Given the description of an element on the screen output the (x, y) to click on. 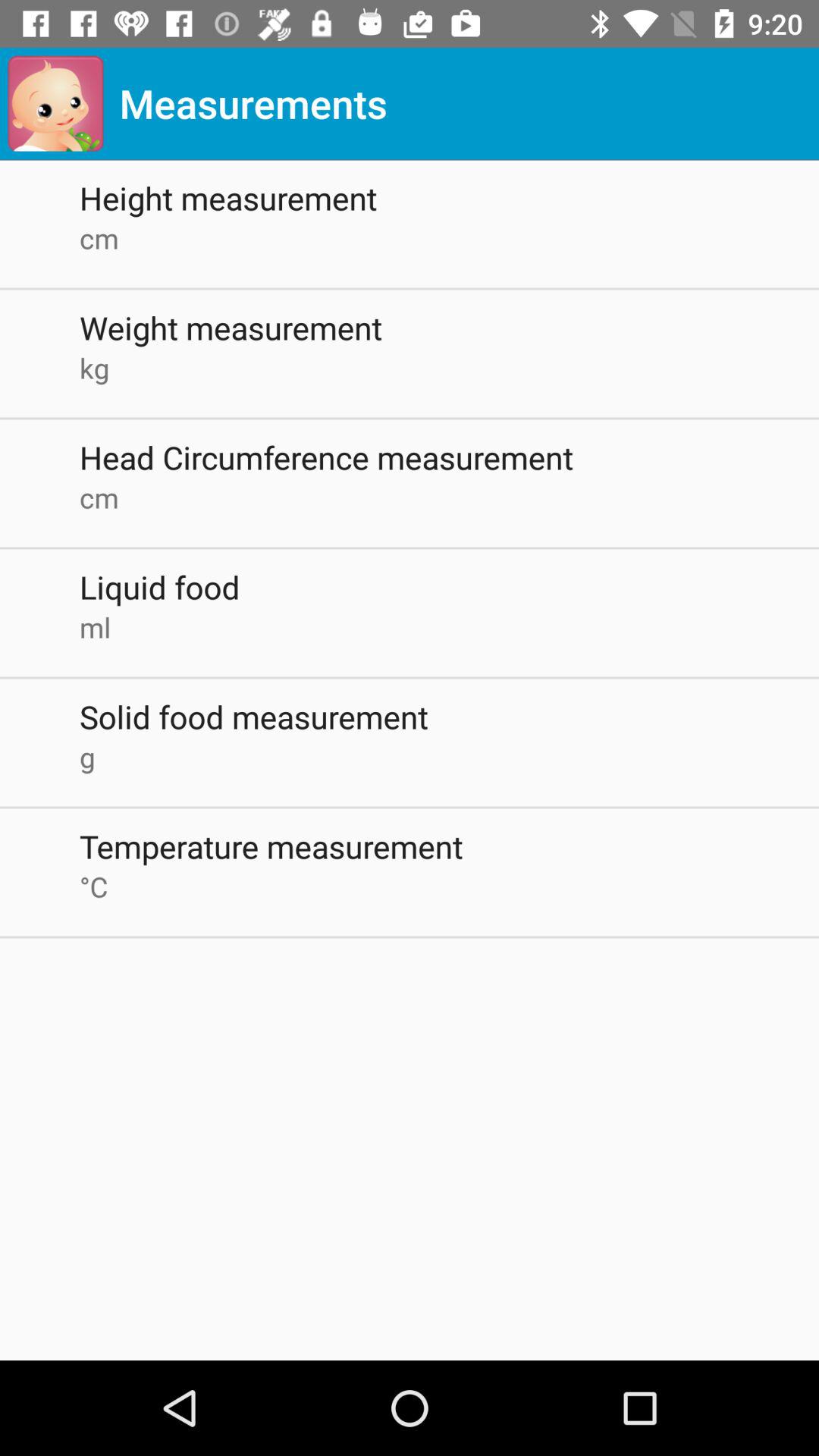
press the item to the left of the measurements item (55, 103)
